Given the description of an element on the screen output the (x, y) to click on. 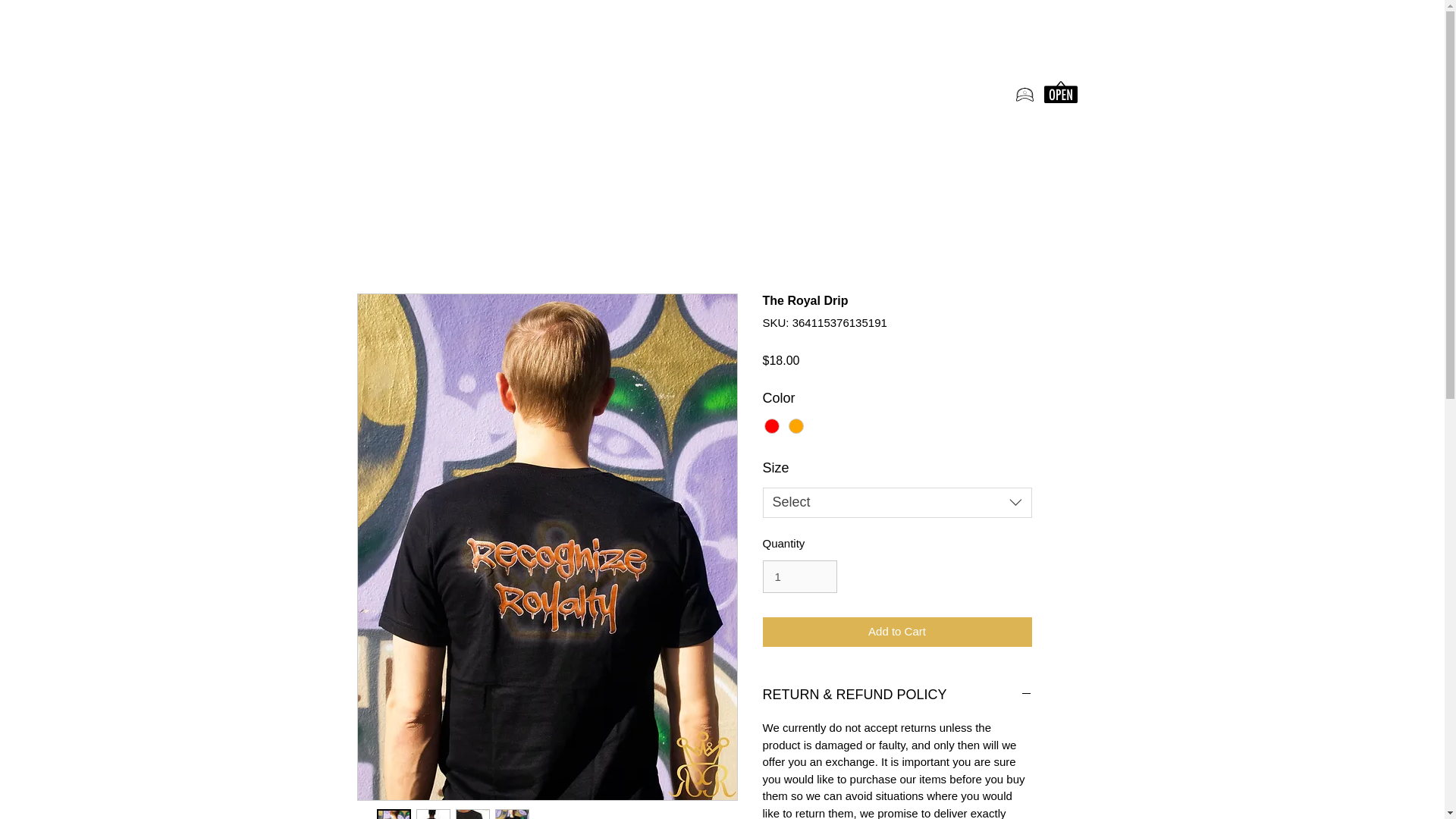
Select (897, 502)
1 (799, 576)
Add to Cart (897, 632)
